Given the description of an element on the screen output the (x, y) to click on. 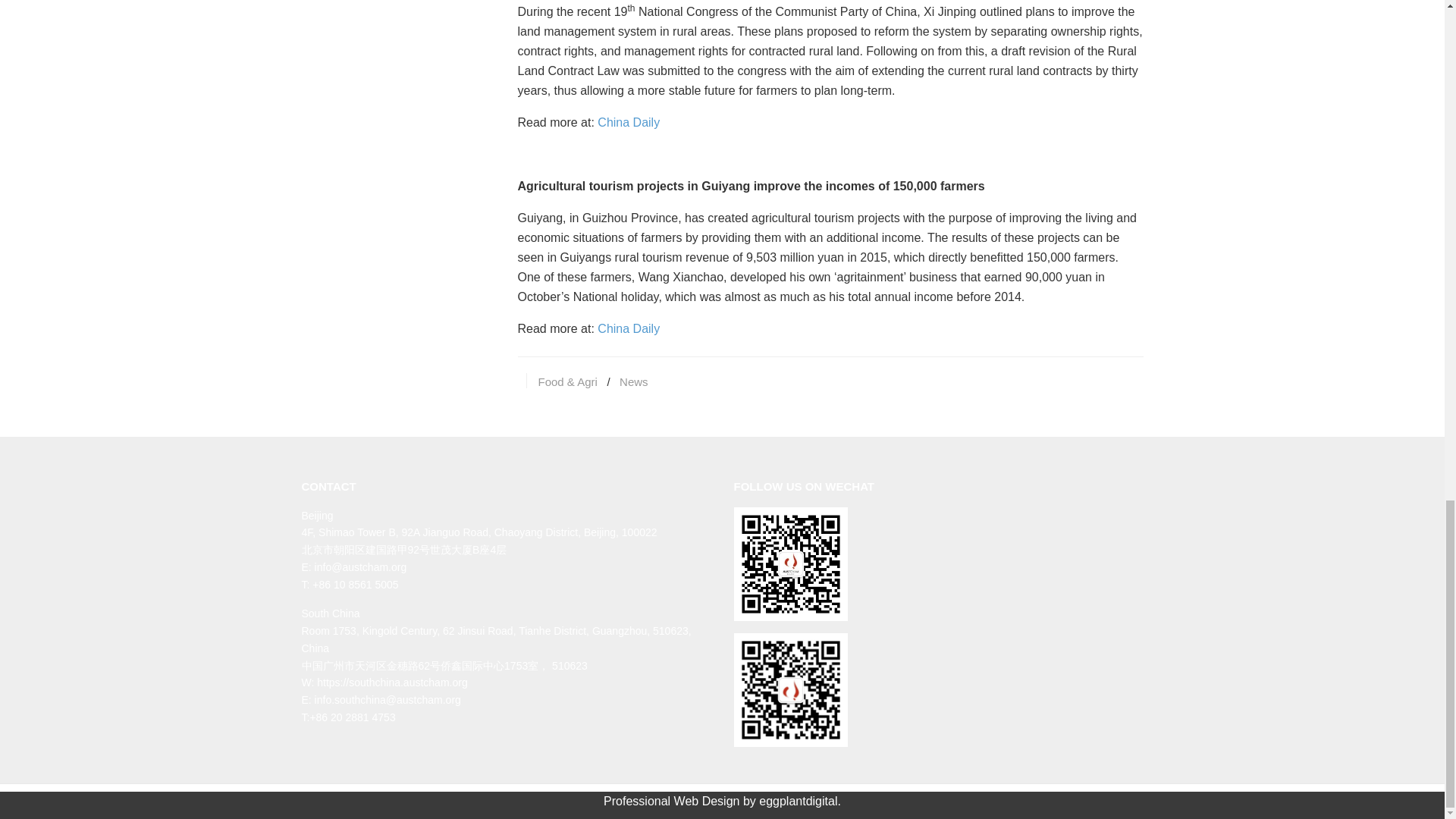
News (633, 381)
China Daily (627, 328)
Professional Web Design (671, 800)
China Daily (627, 122)
